Given the description of an element on the screen output the (x, y) to click on. 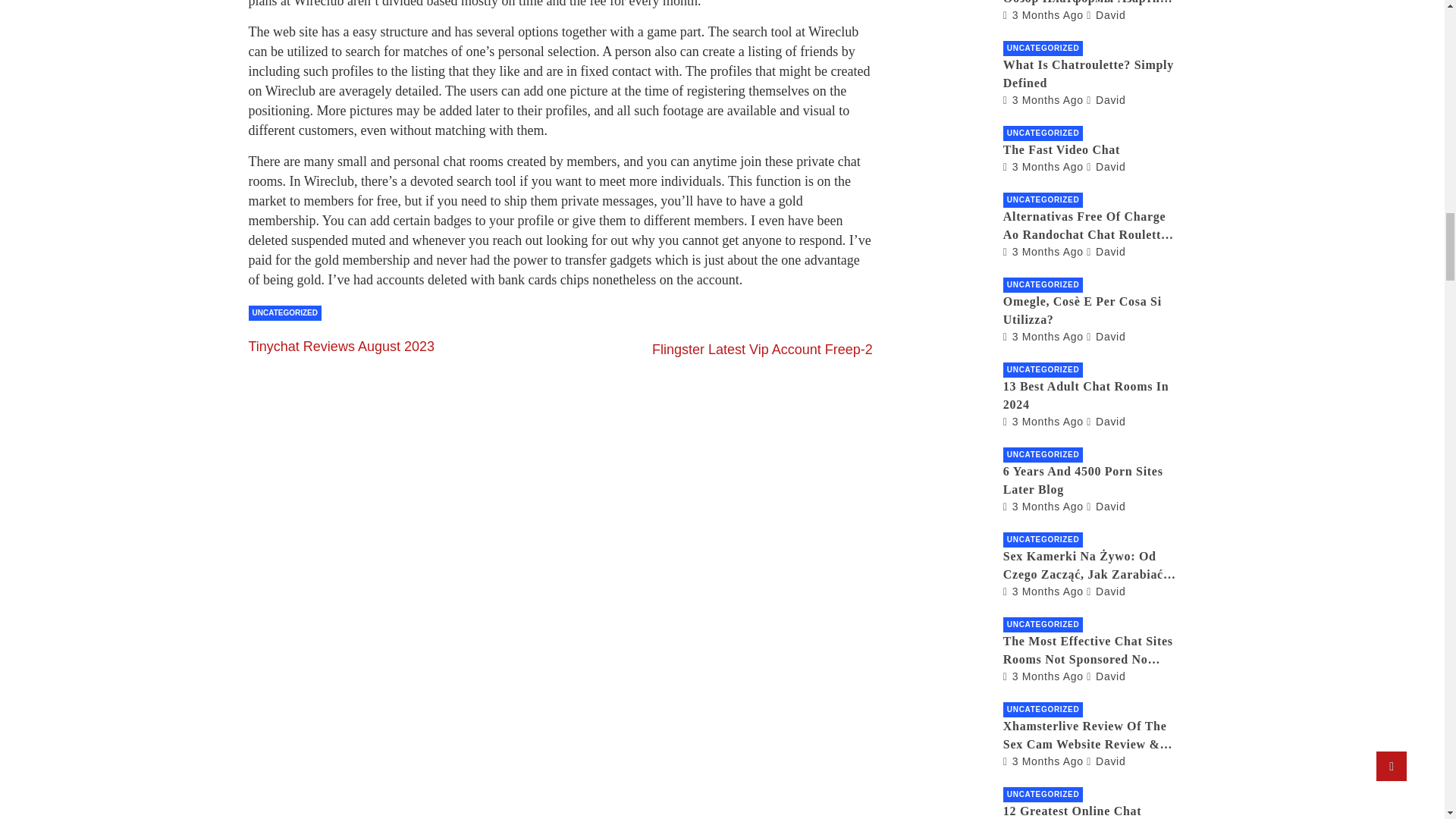
Flingster Latest Vip Account Freep-2 (762, 349)
Tinychat Reviews August 2023 (340, 346)
UNCATEGORIZED (284, 313)
